Given the description of an element on the screen output the (x, y) to click on. 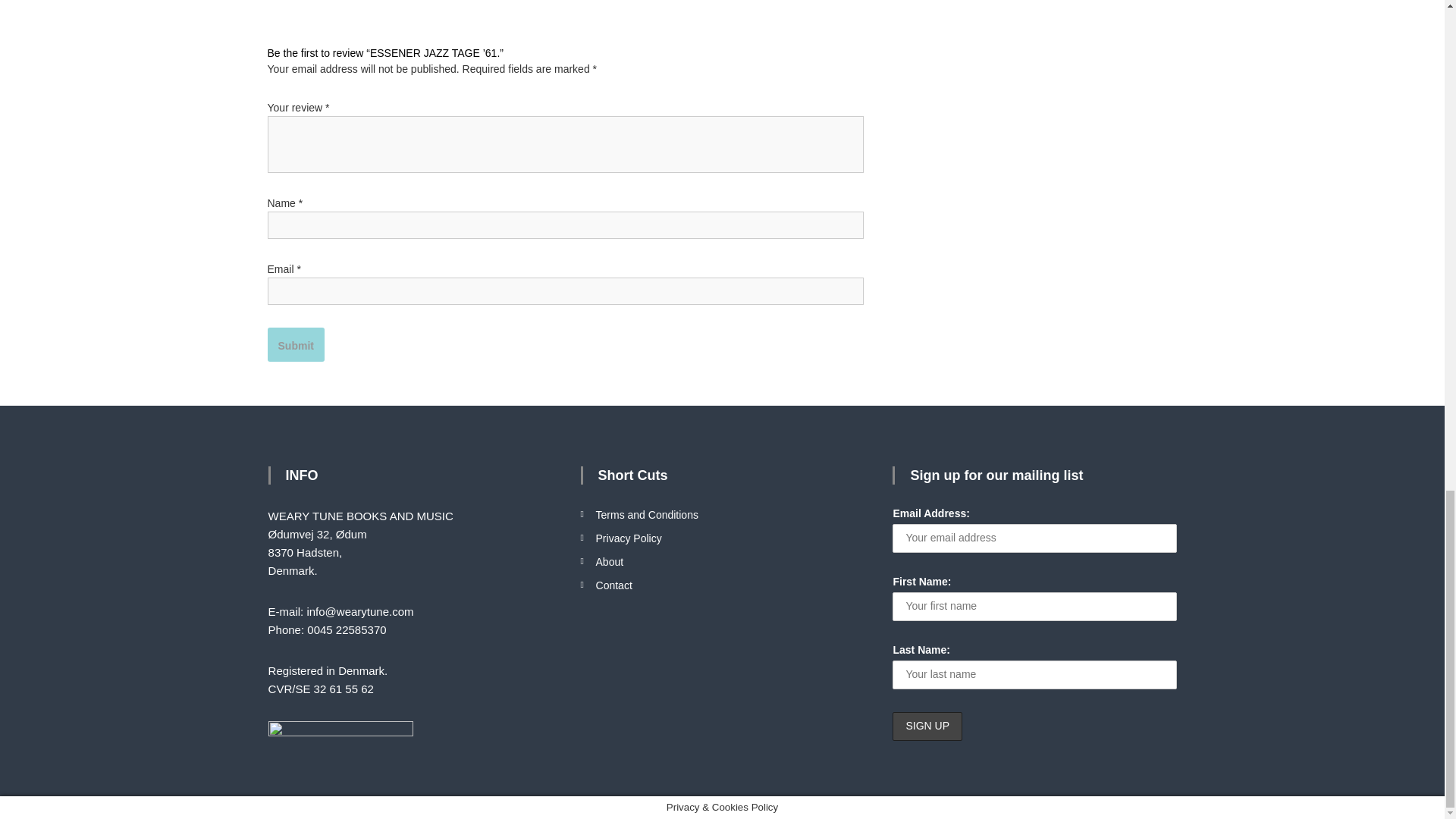
SIGN UP (927, 726)
Submit (294, 344)
